Given the description of an element on the screen output the (x, y) to click on. 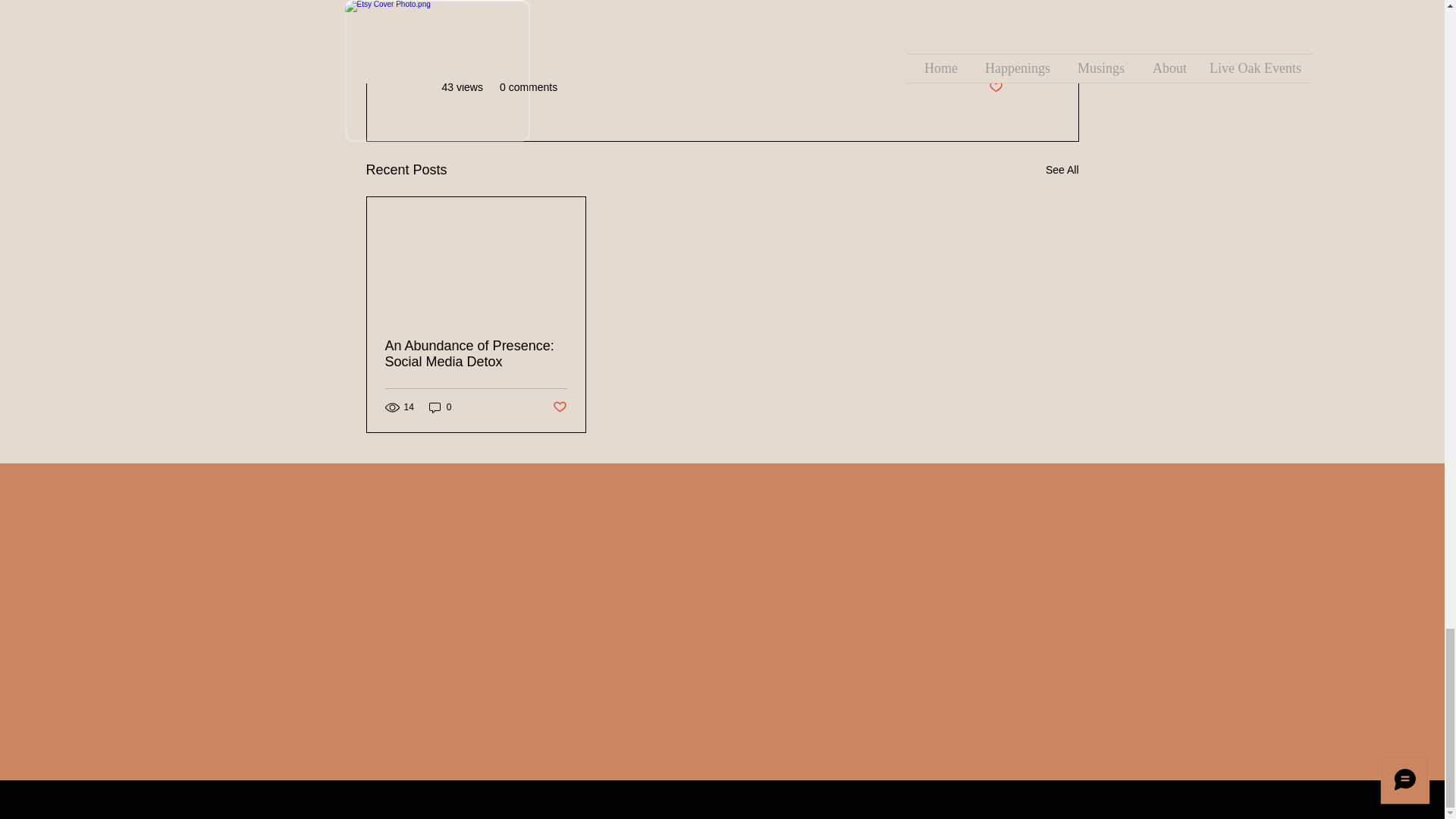
0 (440, 407)
Post not marked as liked (995, 87)
An Abundance of Presence: Social Media Detox (476, 354)
Post not marked as liked (558, 406)
See All (1061, 169)
